Given the description of an element on the screen output the (x, y) to click on. 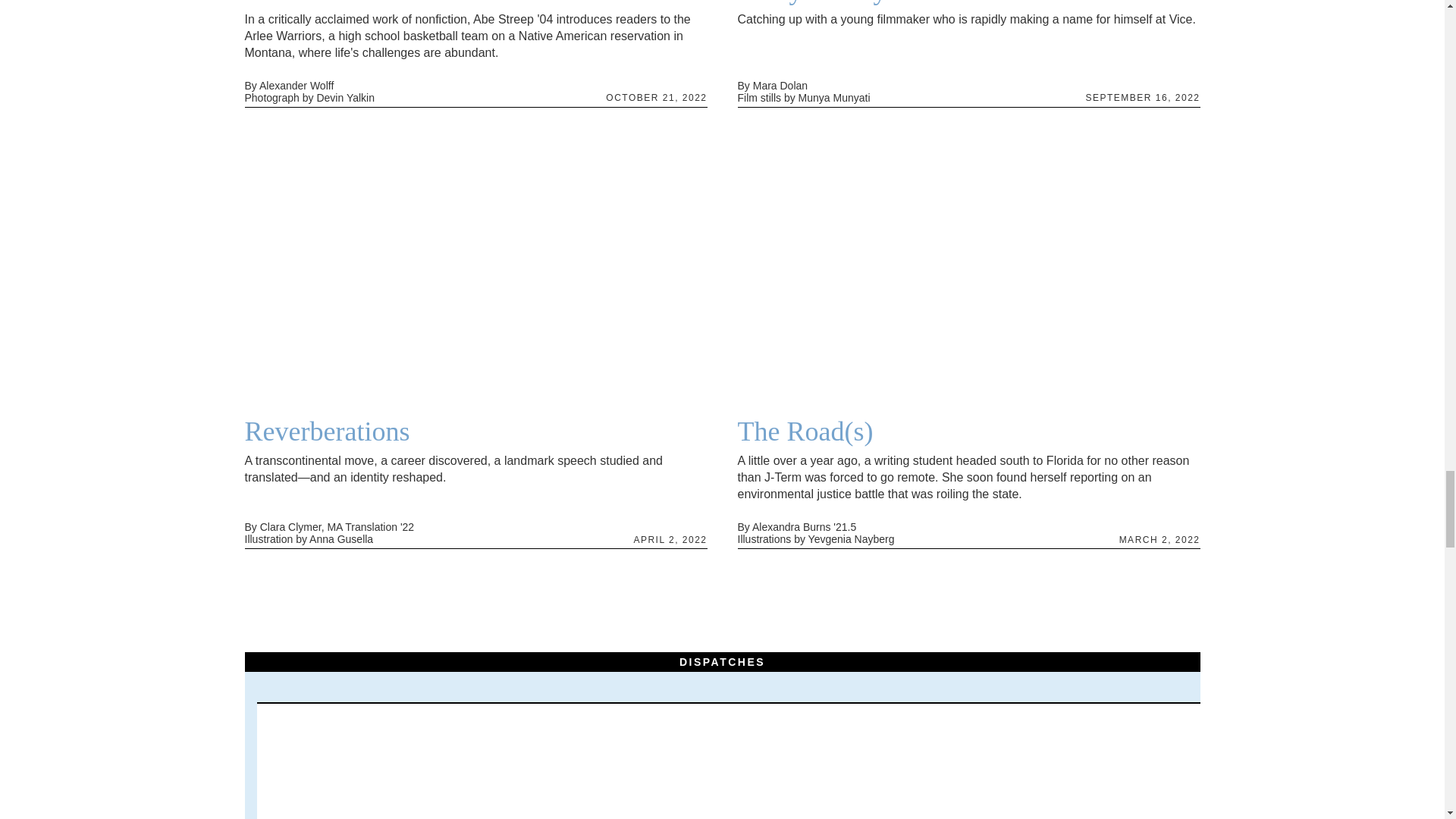
Dispatches (721, 661)
DISPATCHES (721, 661)
Reverberations (475, 431)
